Given the description of an element on the screen output the (x, y) to click on. 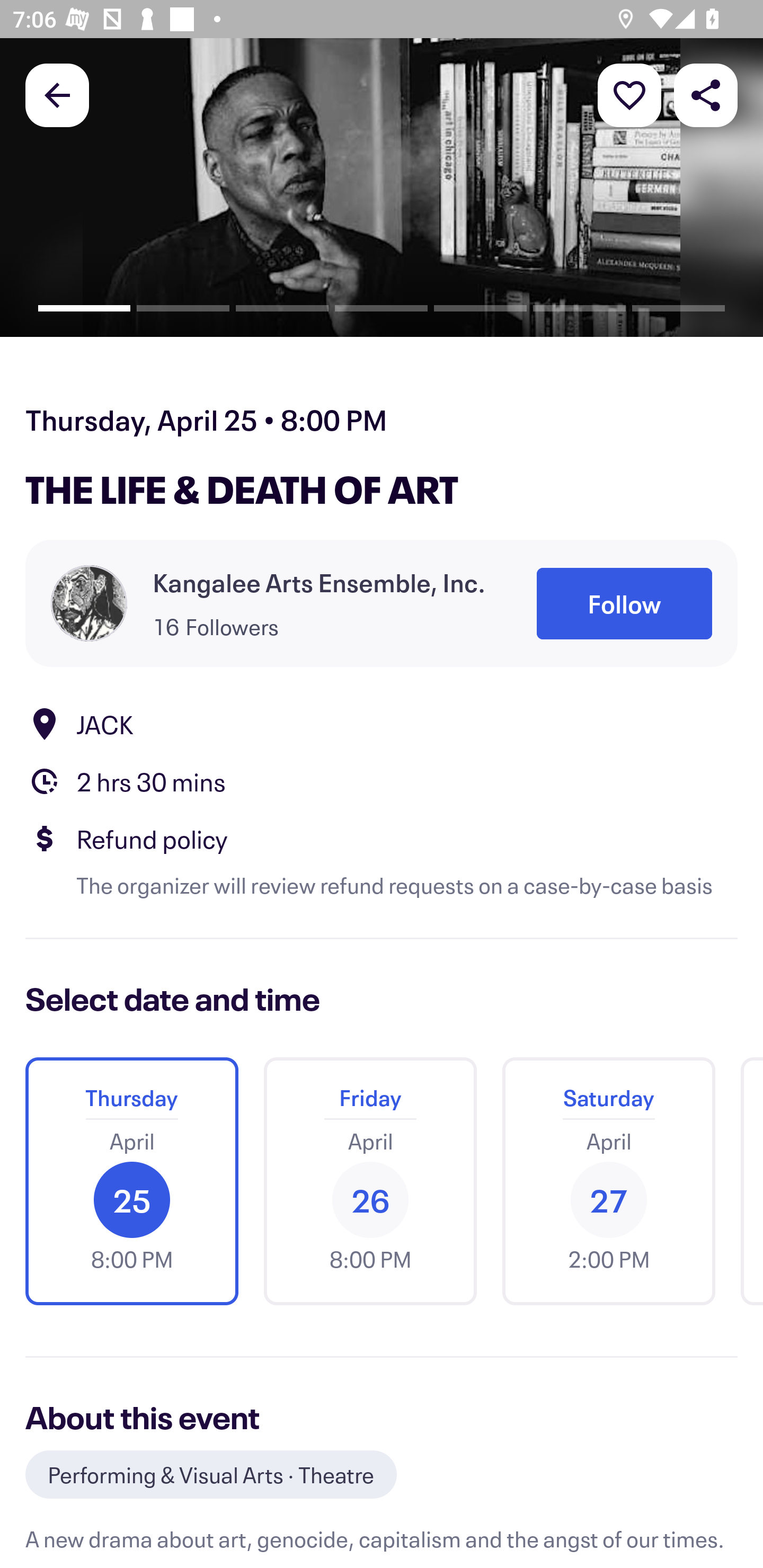
Back (57, 94)
More (629, 94)
Share (705, 94)
Kangalee Arts Ensemble, Inc. (319, 582)
Organizer profile picture (89, 602)
Follow (623, 603)
Location JACK (381, 724)
Thursday April 25 8:00 PM (131, 1181)
Friday April 26 8:00 PM (370, 1181)
Saturday April 27 2:00 PM (608, 1181)
